Given the description of an element on the screen output the (x, y) to click on. 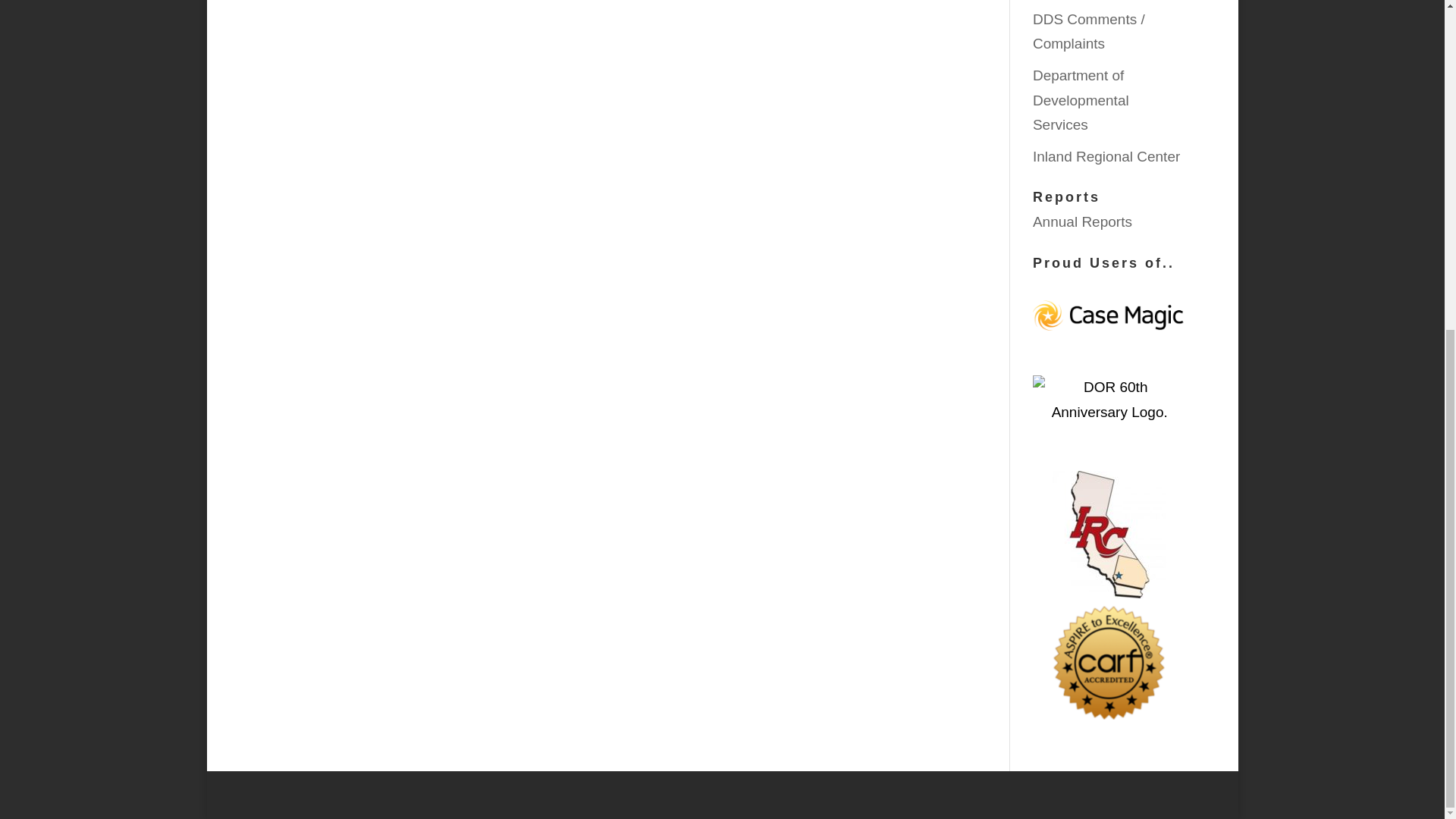
Department of Developmental Services (1080, 99)
Inland Regional Center (1105, 156)
Department of Developmental Services (1080, 99)
Annual Reports (1082, 221)
